Given the description of an element on the screen output the (x, y) to click on. 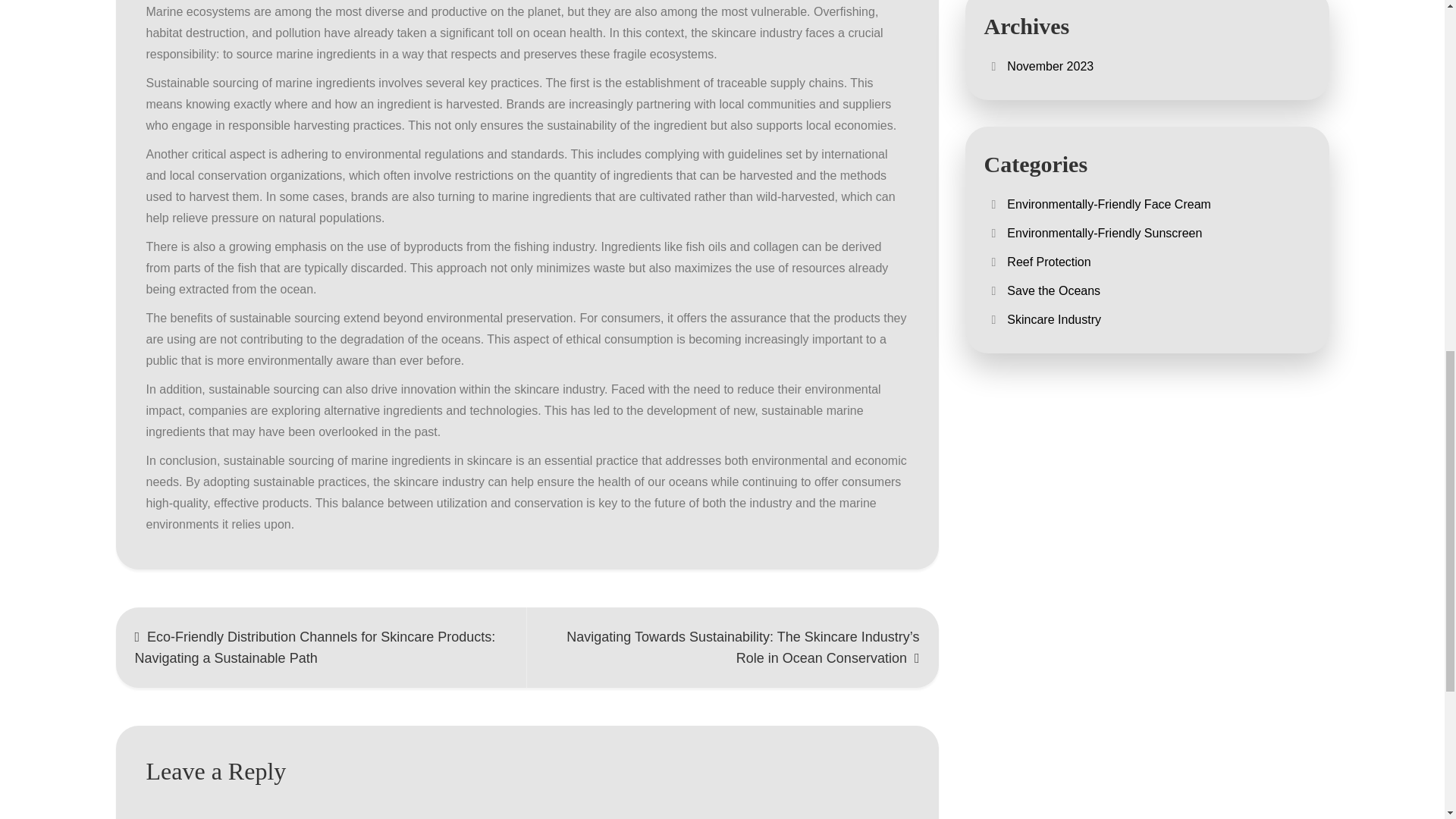
Save the Oceans (1053, 290)
Environmentally-Friendly Face Cream (1109, 204)
Reef Protection (1048, 261)
Environmentally-Friendly Sunscreen (1104, 232)
logged in (239, 818)
November 2023 (1050, 65)
Skincare Industry (1053, 318)
